Given the description of an element on the screen output the (x, y) to click on. 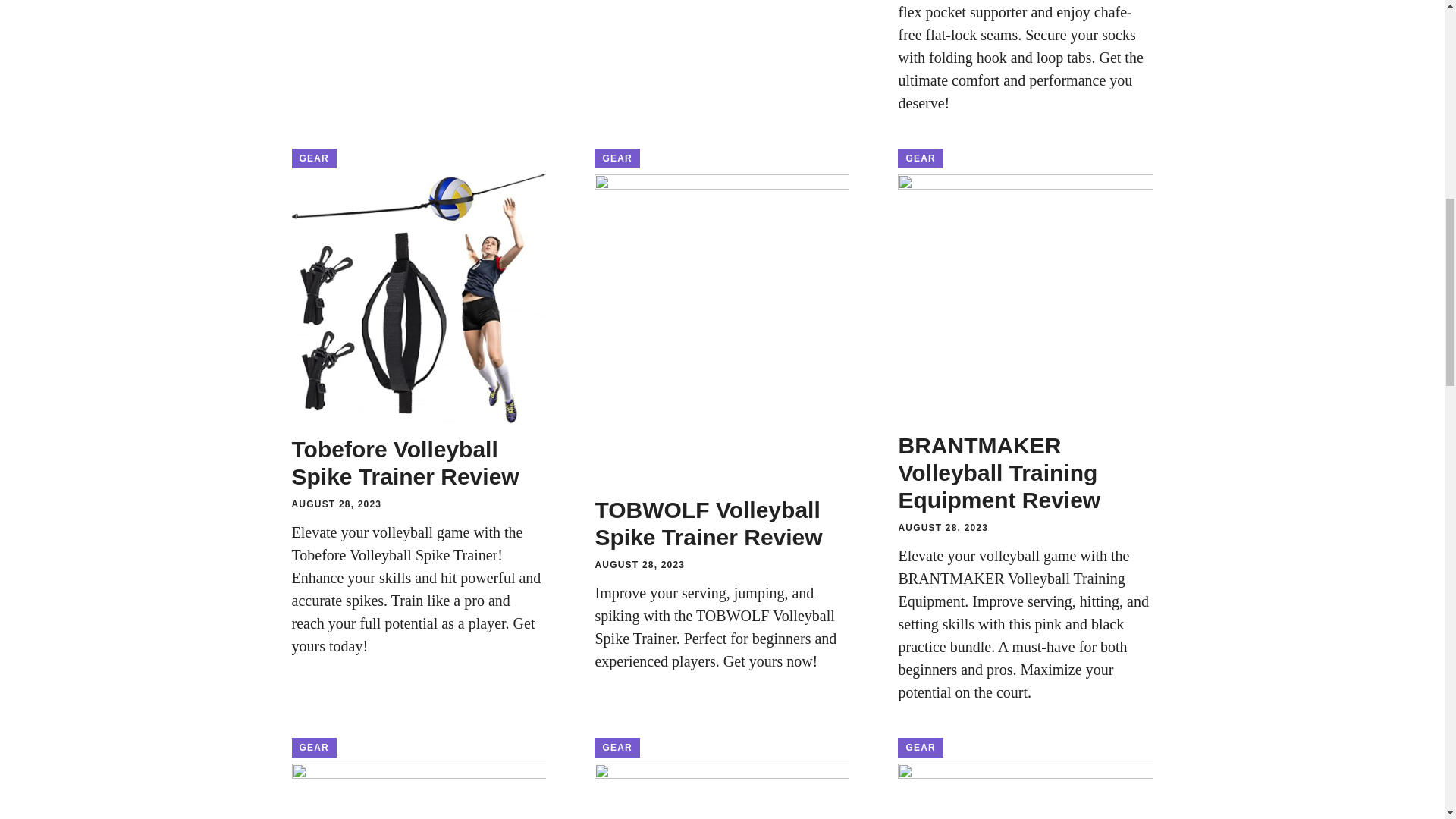
BRANTMAKER Volleyball Training Equipment Review (999, 472)
GEAR (616, 747)
Tobefore Volleyball Spike Trainer Review (404, 462)
GEAR (920, 158)
TOBWOLF Volleyball Spike Trainer Review (708, 523)
GEAR (616, 158)
GEAR (920, 747)
GEAR (313, 747)
GEAR (313, 158)
